Given the description of an element on the screen output the (x, y) to click on. 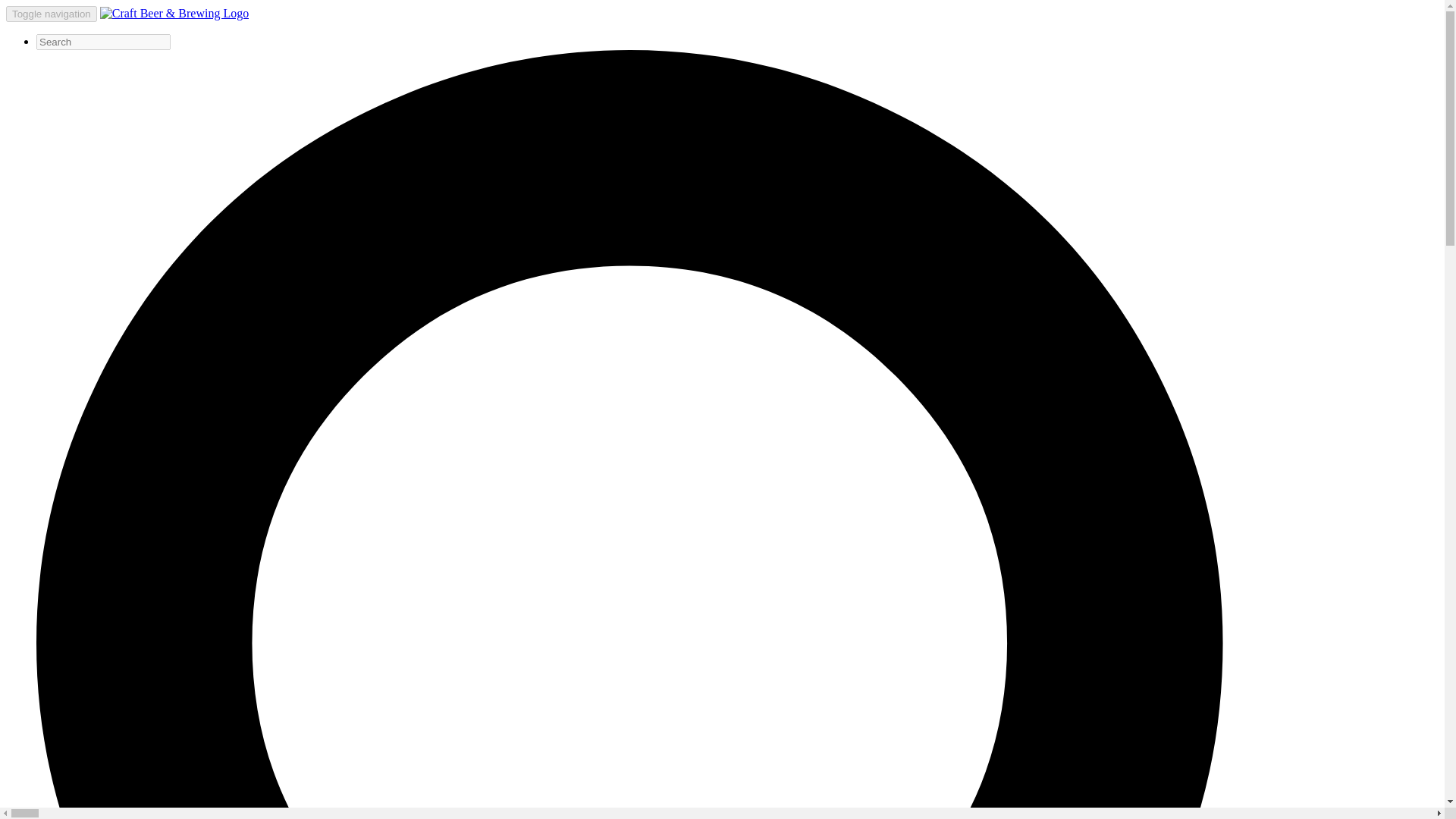
Toggle navigation (51, 13)
